Given the description of an element on the screen output the (x, y) to click on. 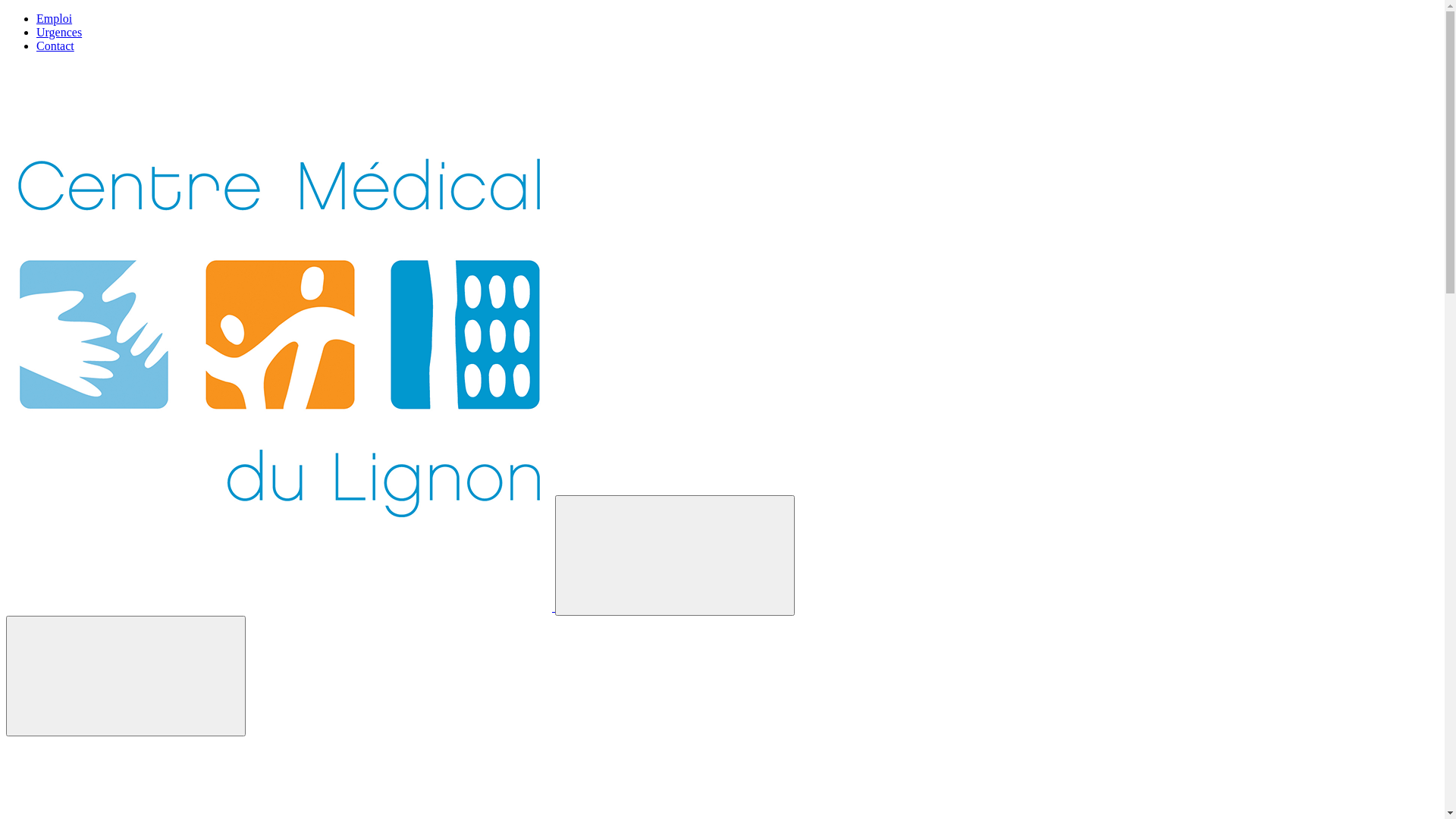
Urgences Element type: text (58, 31)
Emploi Element type: text (54, 18)
Contact Element type: text (55, 45)
